Given the description of an element on the screen output the (x, y) to click on. 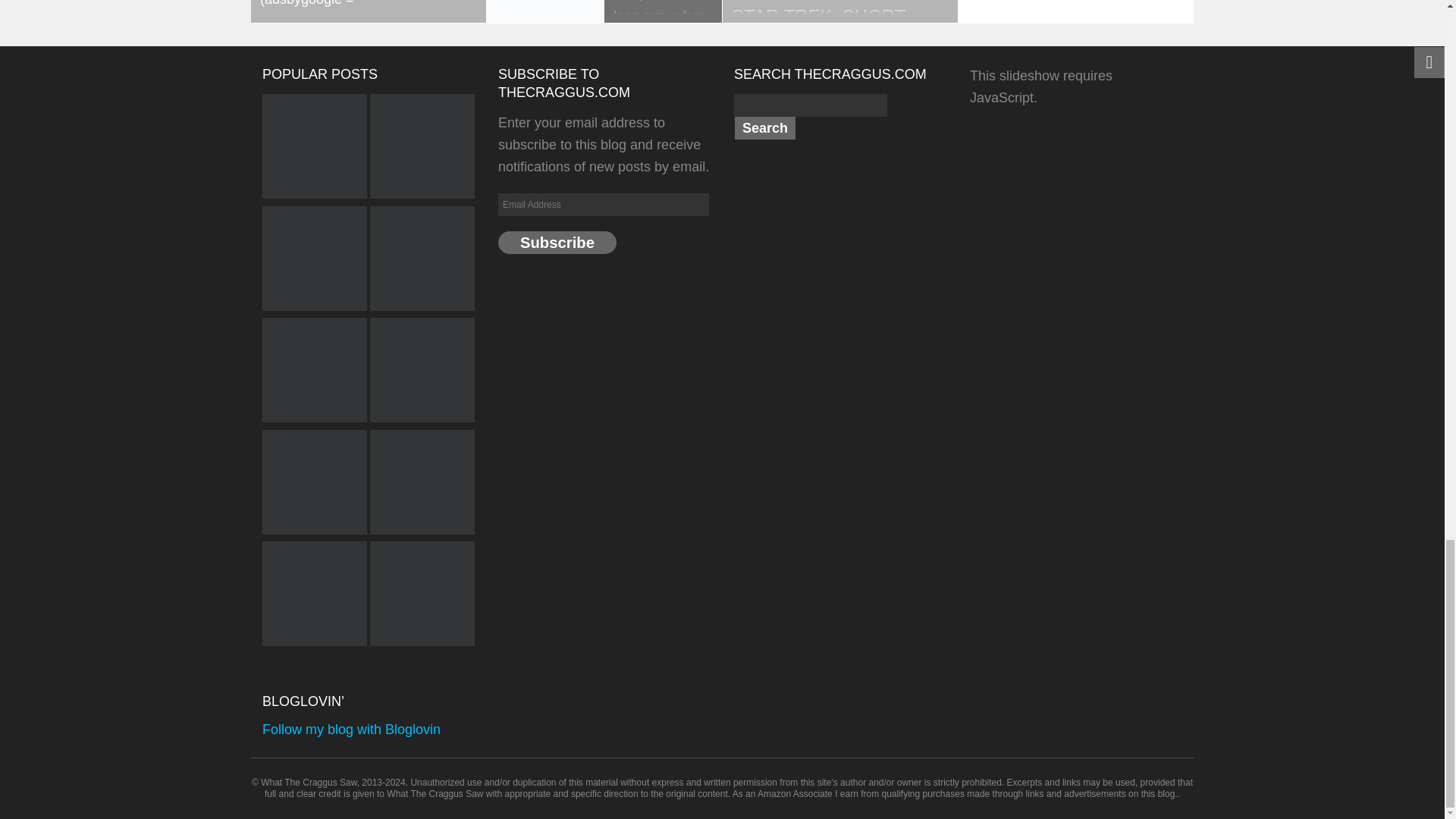
Search (764, 128)
Loudermilk Season One Review (314, 148)
Craggus' Trek Trek Now: Voyager - Vol.6 (314, 483)
Twilight Of The Movie Brats (421, 260)
